Given the description of an element on the screen output the (x, y) to click on. 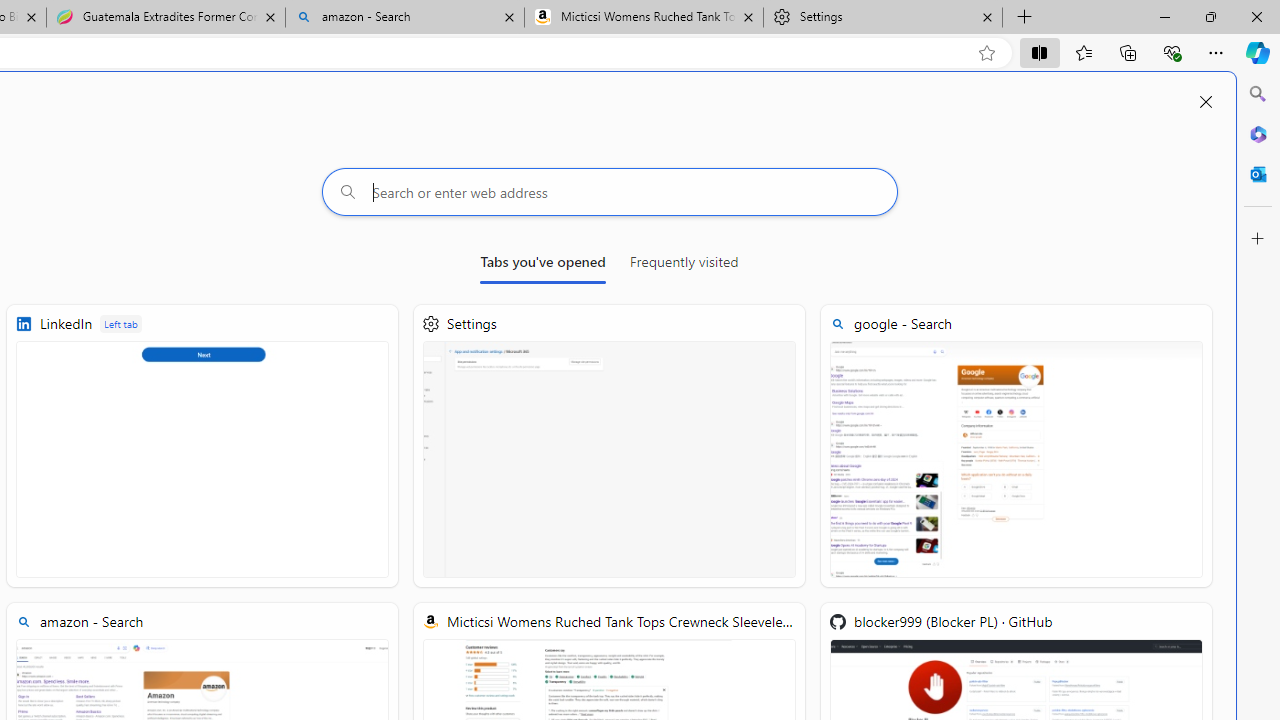
Outlook (1258, 174)
google - Search (1016, 446)
Frequently visited (683, 265)
amazon - Search (404, 17)
Search or enter web address (609, 191)
